Given the description of an element on the screen output the (x, y) to click on. 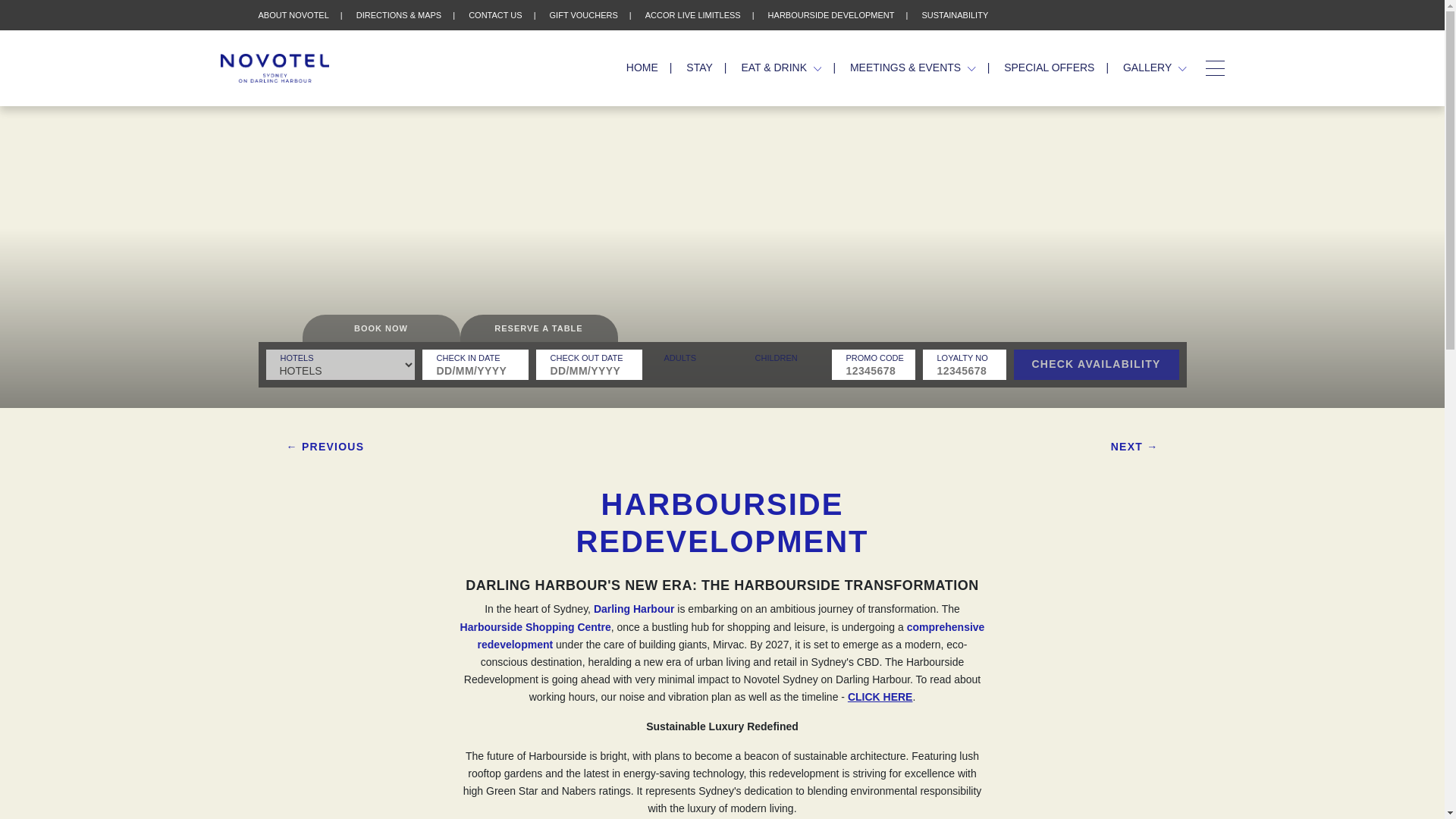
CONTACT US (495, 15)
ACCOR LIVE LIMITLESS (693, 15)
GIFT VOUCHERS (583, 15)
HARBOURSIDE DEVELOPMENT (831, 15)
ABOUT NOVOTEL (293, 15)
SPECIAL OFFERS (1049, 67)
SUSTAINABILITY (954, 15)
